Given the description of an element on the screen output the (x, y) to click on. 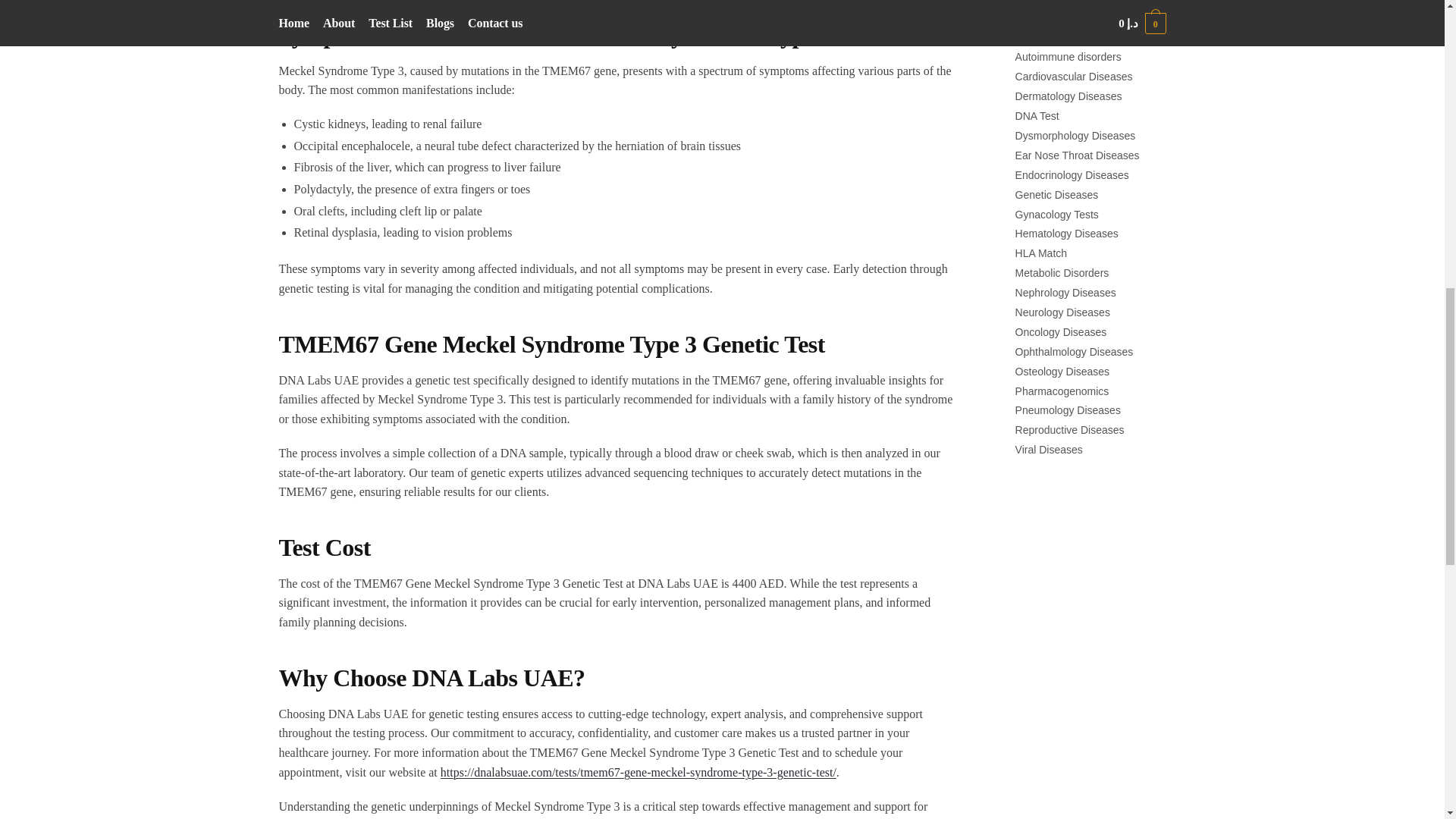
DNA Test (1036, 115)
Ancestry DNA Test (1058, 37)
Dermatology Diseases (1068, 96)
Cardiovascular Diseases (1073, 76)
Ear Nose Throat Diseases (1077, 155)
Dysmorphology Diseases (1074, 135)
Autoimmune disorders (1067, 56)
